Given the description of an element on the screen output the (x, y) to click on. 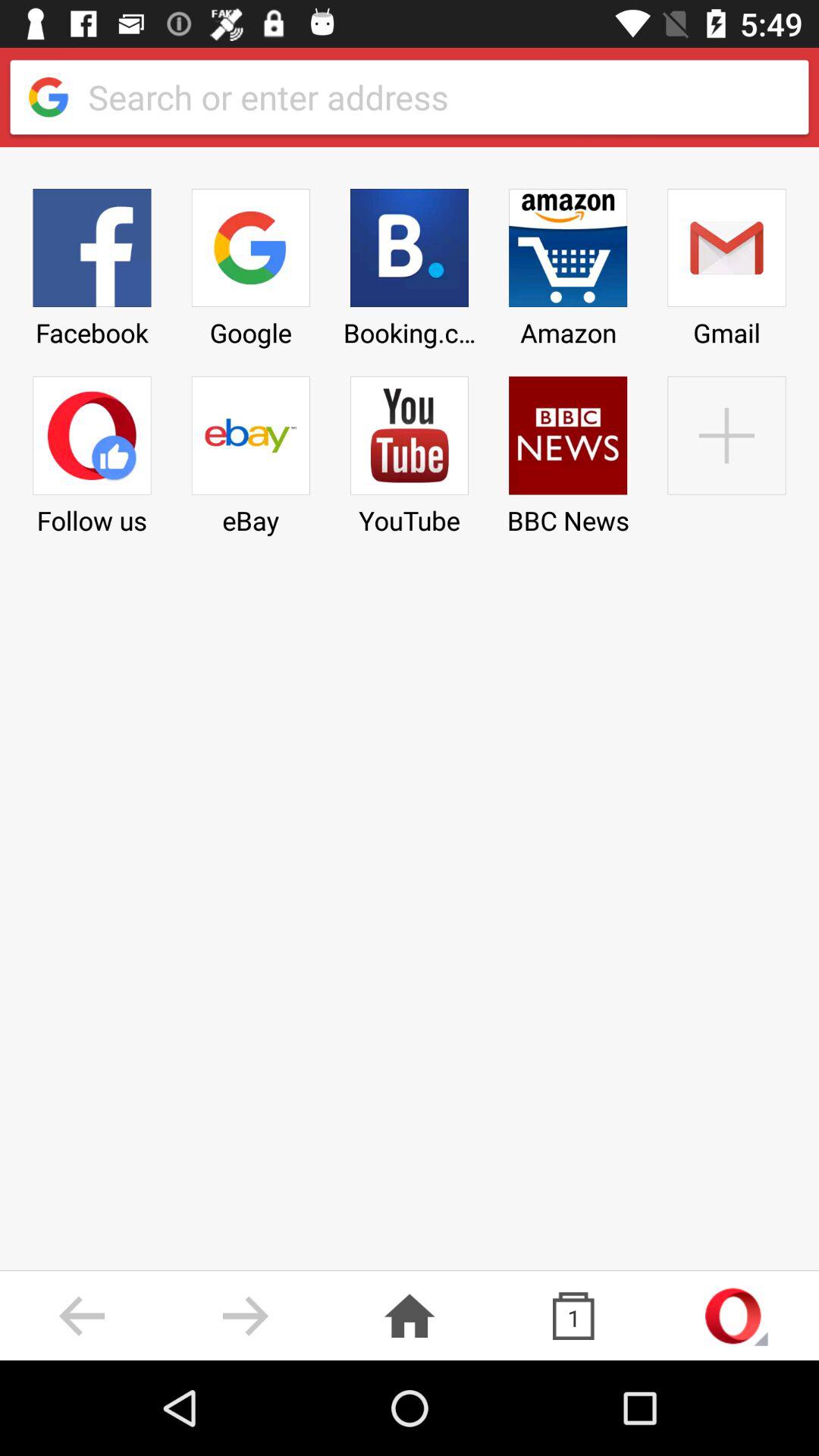
press the youtube item (409, 450)
